Given the description of an element on the screen output the (x, y) to click on. 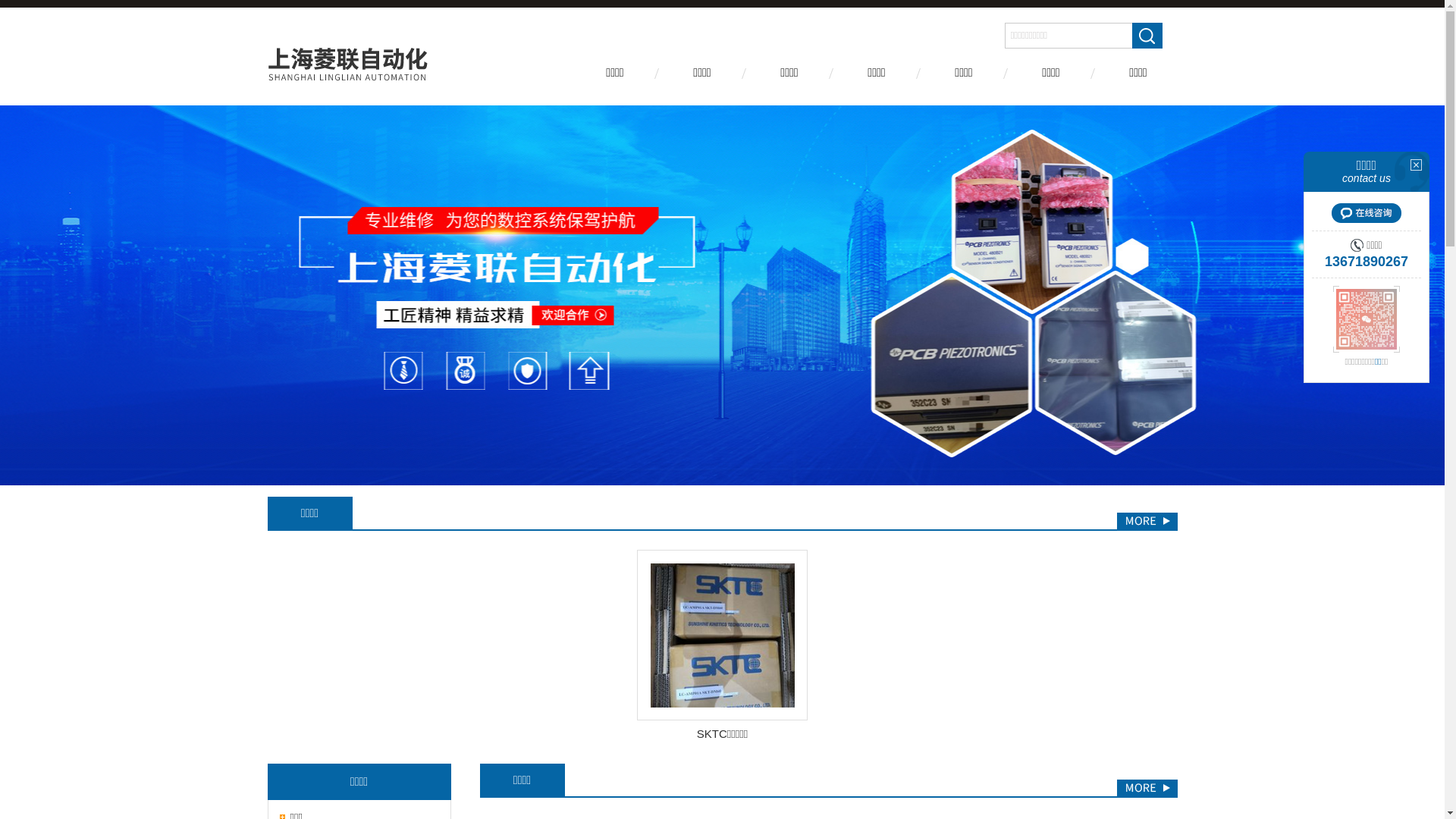
MORE Element type: text (1146, 787)
MORE Element type: text (1146, 520)
  Element type: text (1146, 35)
